Given the description of an element on the screen output the (x, y) to click on. 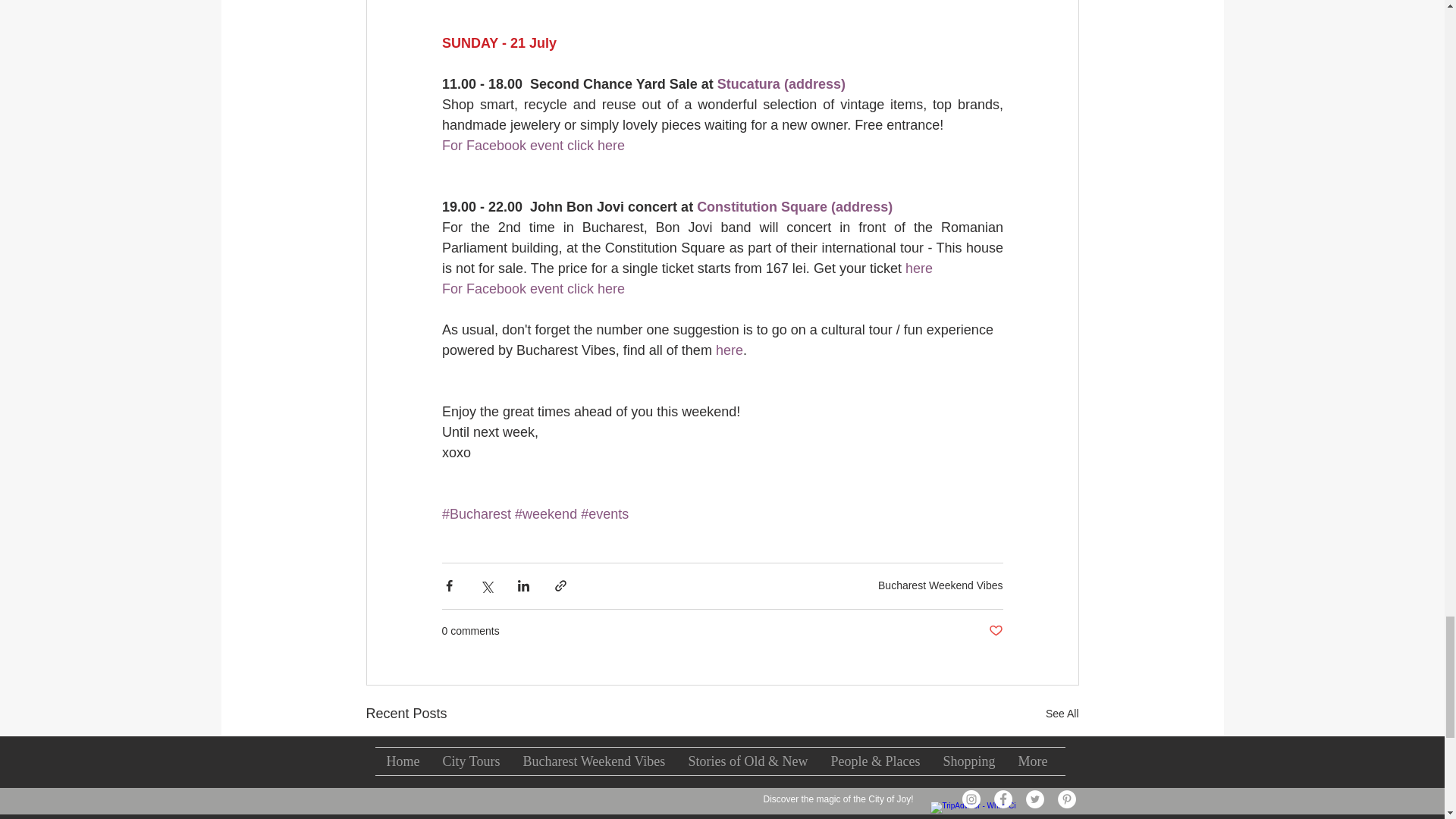
Bucharest Weekend Vibes (940, 585)
here (728, 350)
Post not marked as liked (995, 631)
For Facebook event click here (532, 288)
here (917, 268)
For Facebook event click here (532, 145)
